Given the description of an element on the screen output the (x, y) to click on. 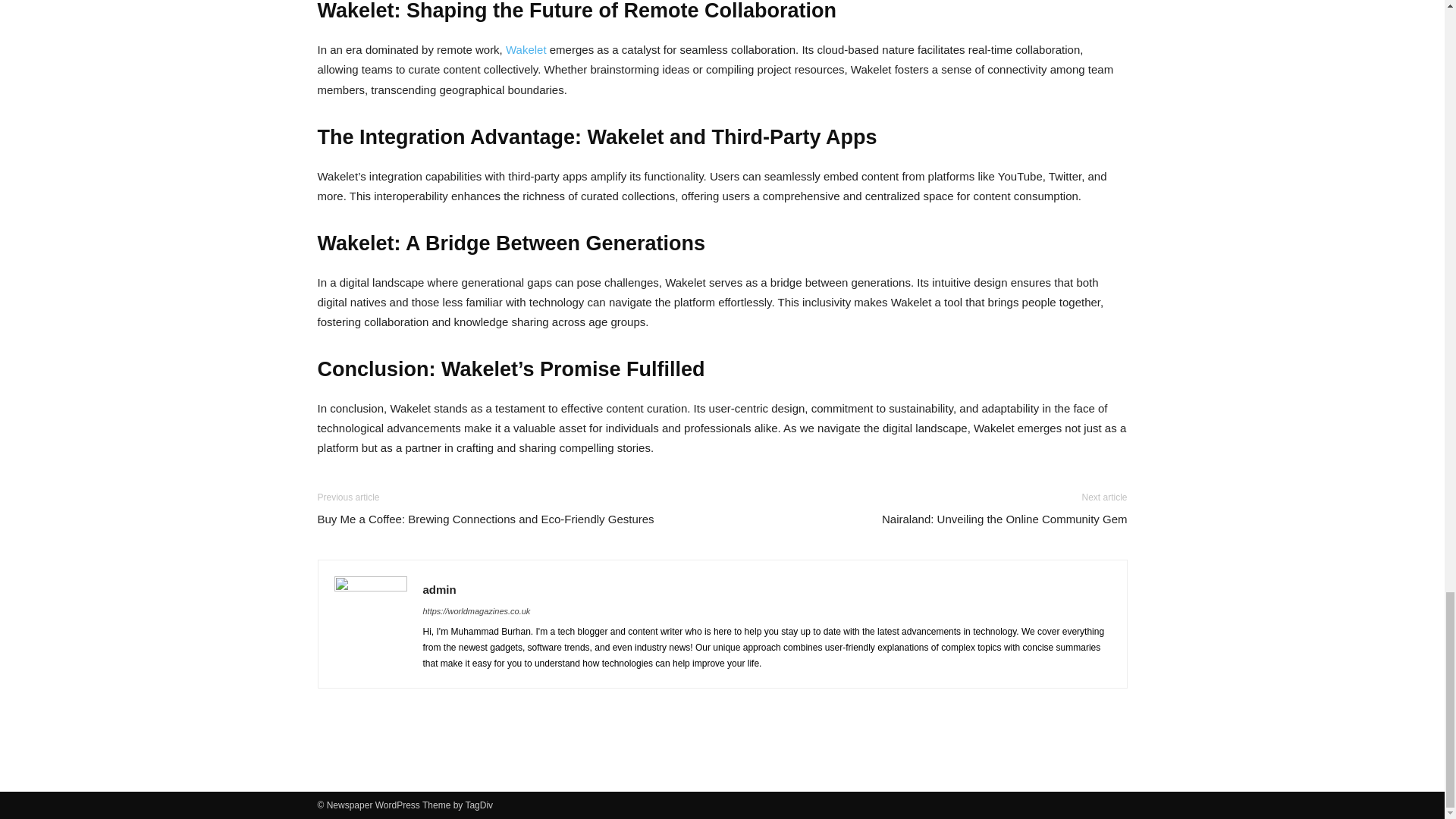
admin (440, 589)
Nairaland: Unveiling the Online Community Gem (1004, 519)
Wakelet (526, 49)
